Given the description of an element on the screen output the (x, y) to click on. 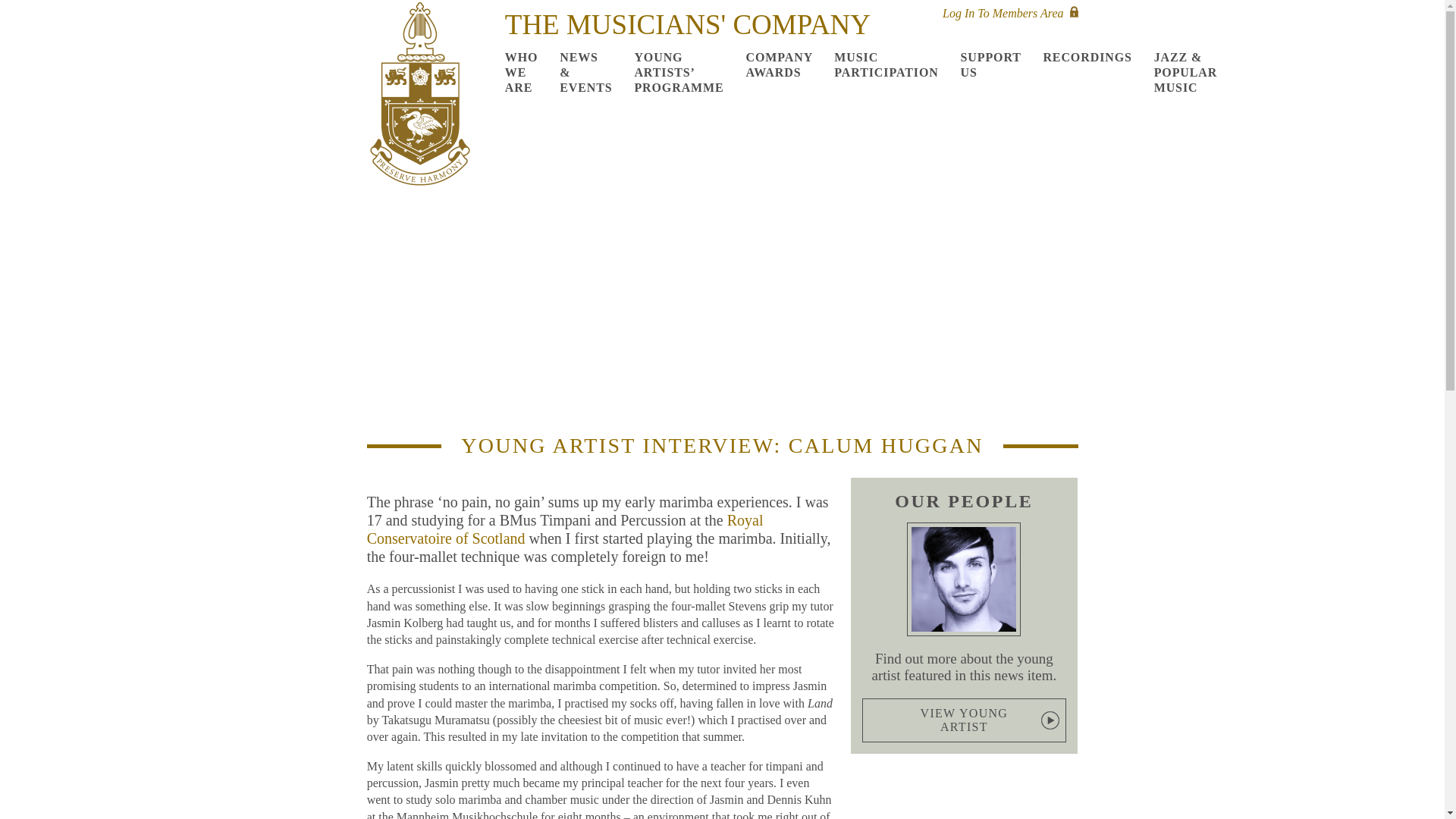
RECORDINGS (1087, 57)
THE MUSICIANS' COMPANY (687, 24)
The Musicians' Company (419, 98)
The Musicians' Company (419, 97)
Our people (963, 579)
Log In To Members Area (1009, 12)
SUPPORT US (990, 64)
WHO WE ARE (526, 72)
COMPANY AWARDS (779, 64)
MUSIC PARTICIPATION (886, 64)
